Given the description of an element on the screen output the (x, y) to click on. 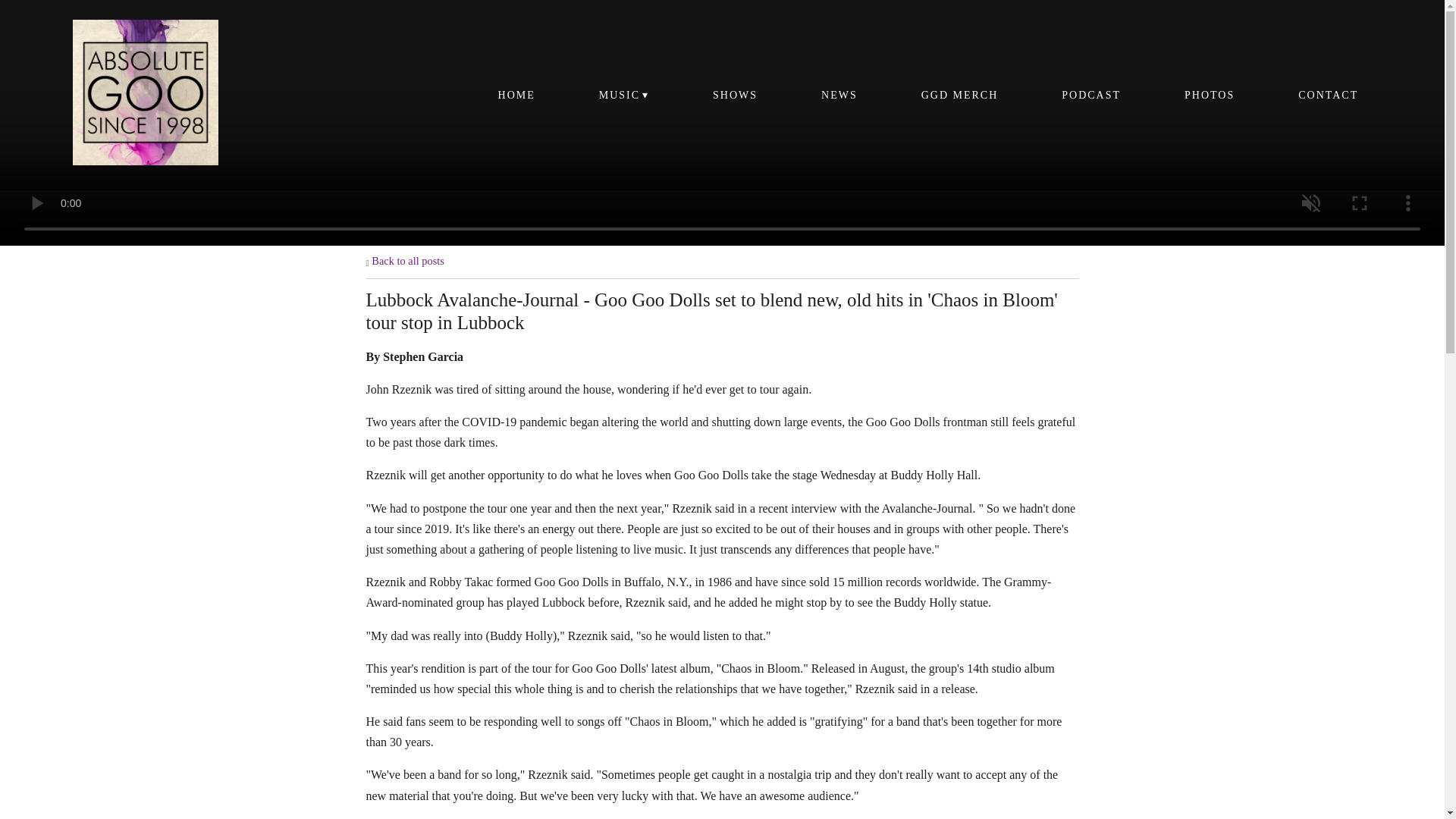
SHOWS (734, 94)
MUSIC (623, 94)
Back to all posts (404, 260)
HOME (516, 94)
PODCAST (1091, 94)
NEWS (839, 94)
PHOTOS (1208, 94)
CONTACT (1327, 94)
GGD MERCH (959, 94)
